Given the description of an element on the screen output the (x, y) to click on. 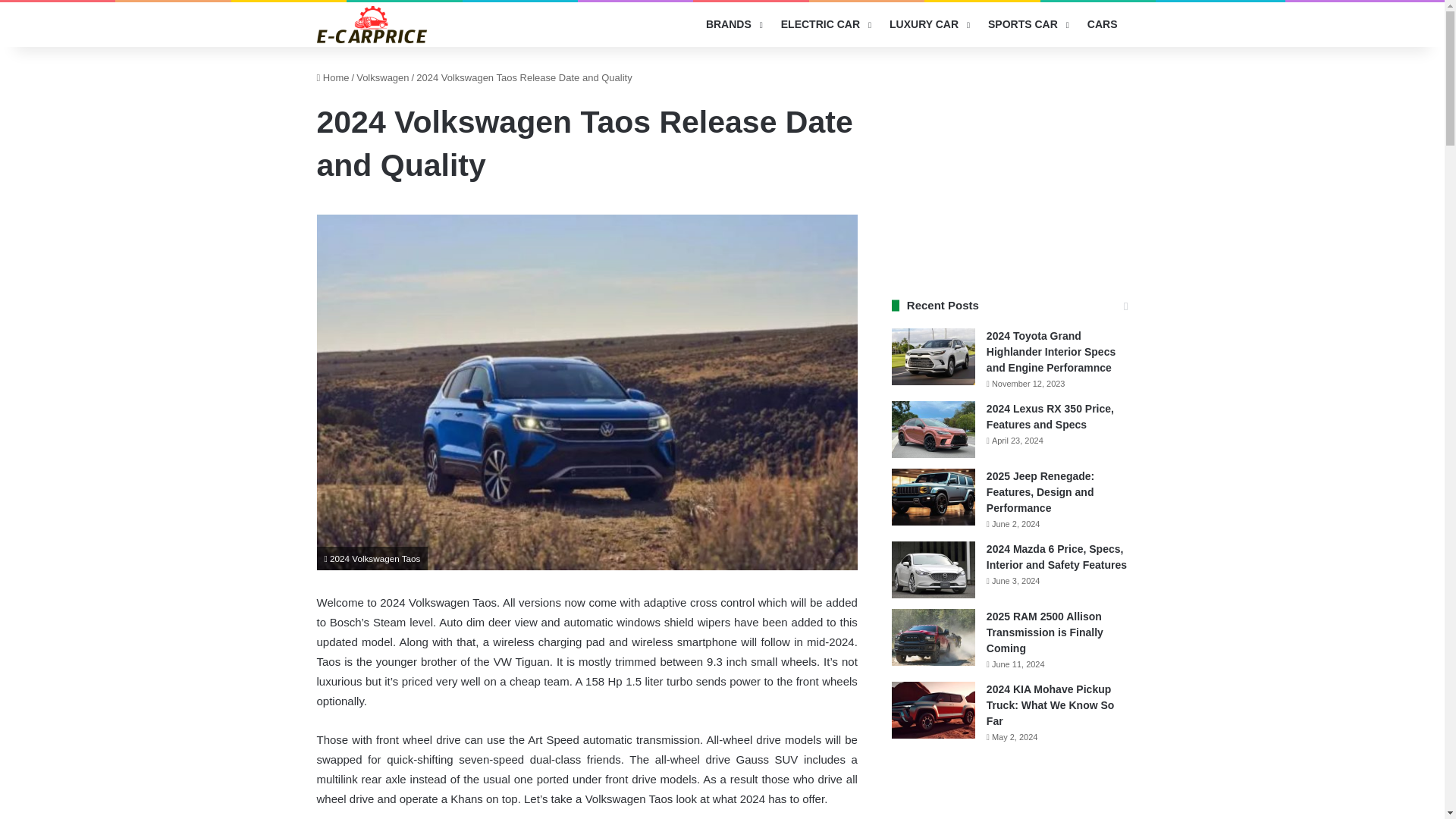
ELECTRIC CAR (824, 24)
BRANDS (732, 24)
Volkswagen (382, 77)
LUXURY CAR (927, 24)
SPORTS CAR (1026, 24)
CARS (1102, 24)
Home (333, 77)
Electric Car Price (371, 24)
